Given the description of an element on the screen output the (x, y) to click on. 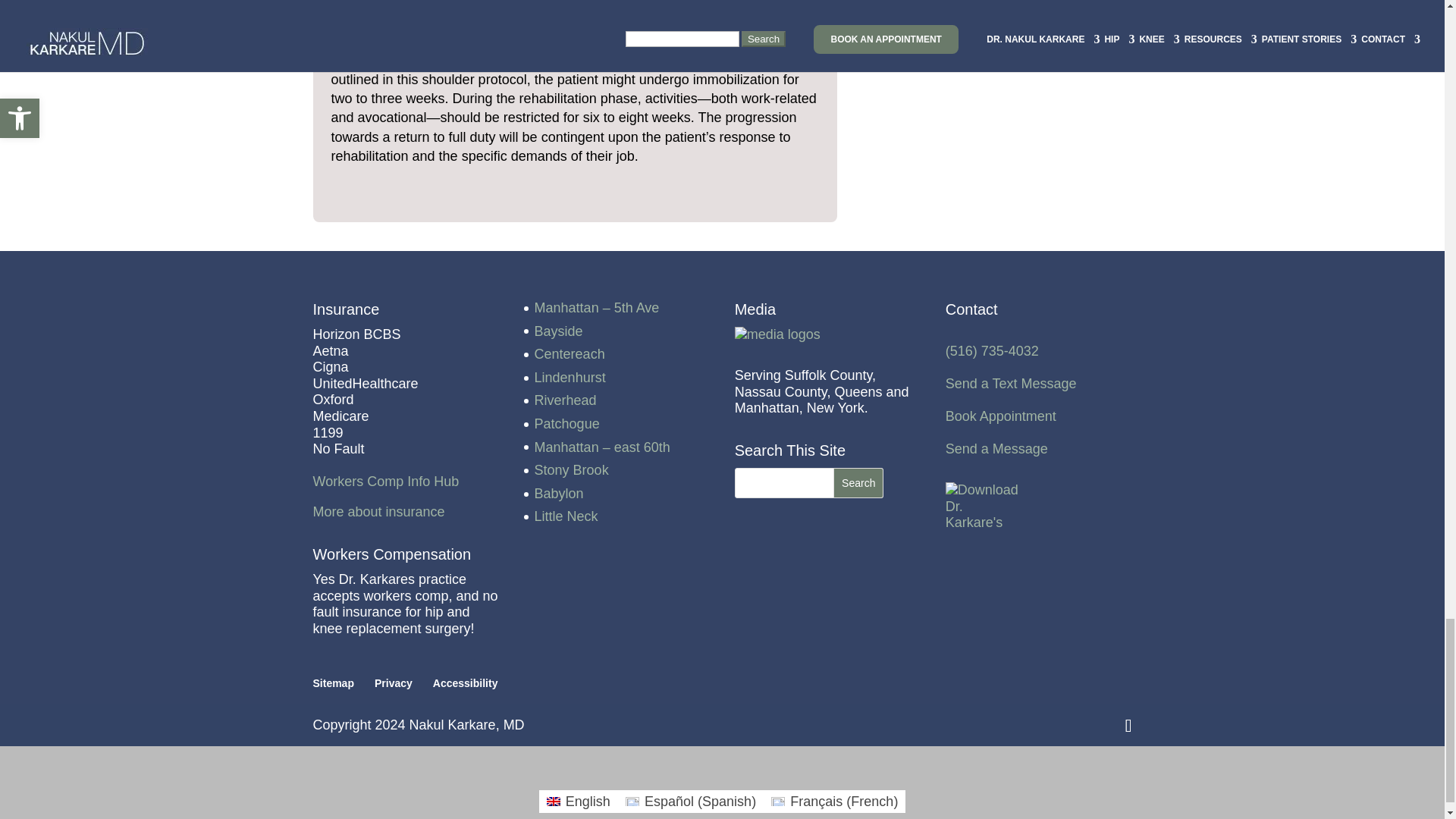
Download Dr. Karkare's vCard at Complete Orthopedics (983, 506)
media logos (778, 334)
Search (857, 482)
